Given the description of an element on the screen output the (x, y) to click on. 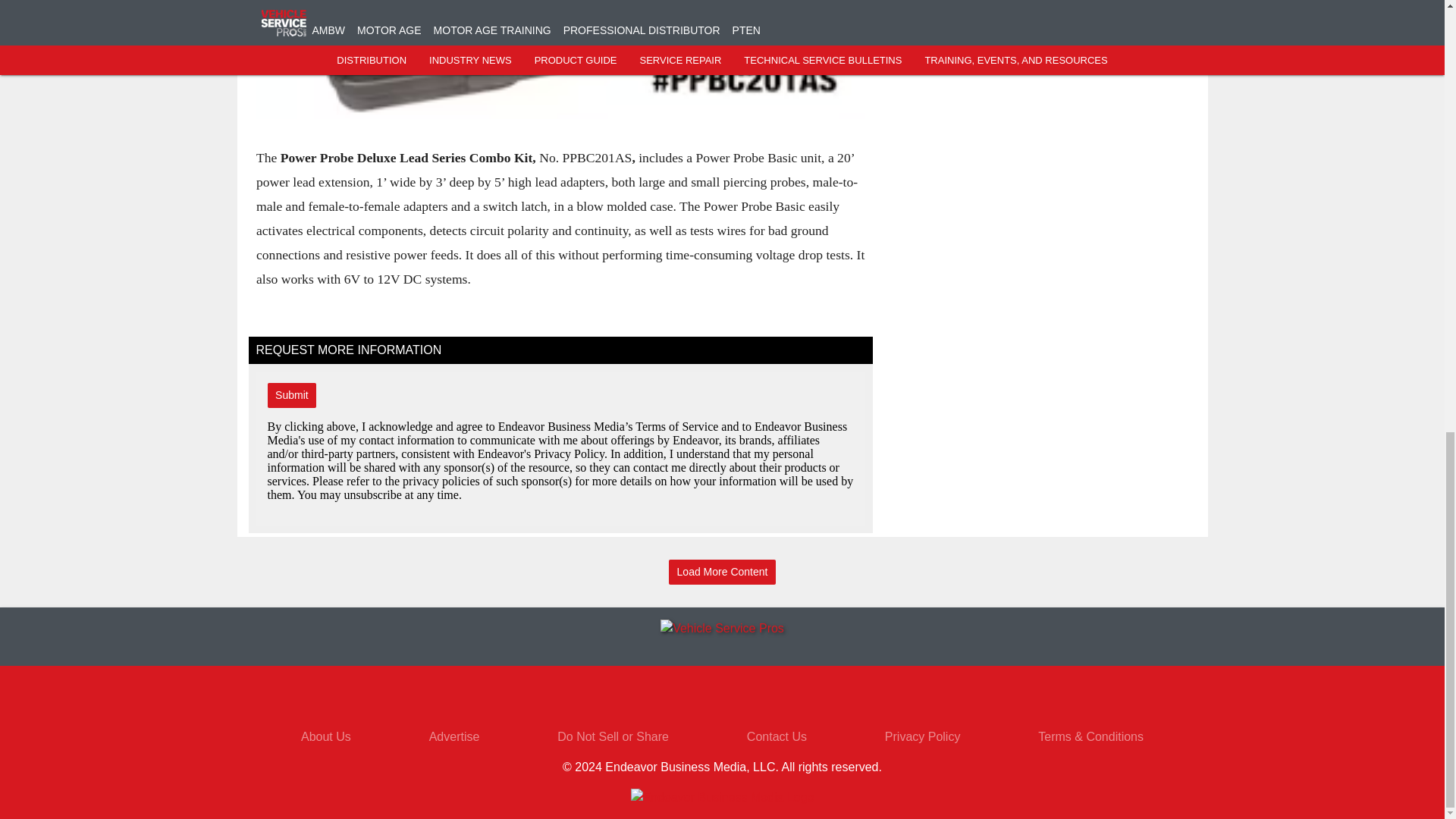
Submit (290, 395)
Power Probe Deluxe Lead Series Combo Kit 57fbdd5075ce9 (560, 59)
